Given the description of an element on the screen output the (x, y) to click on. 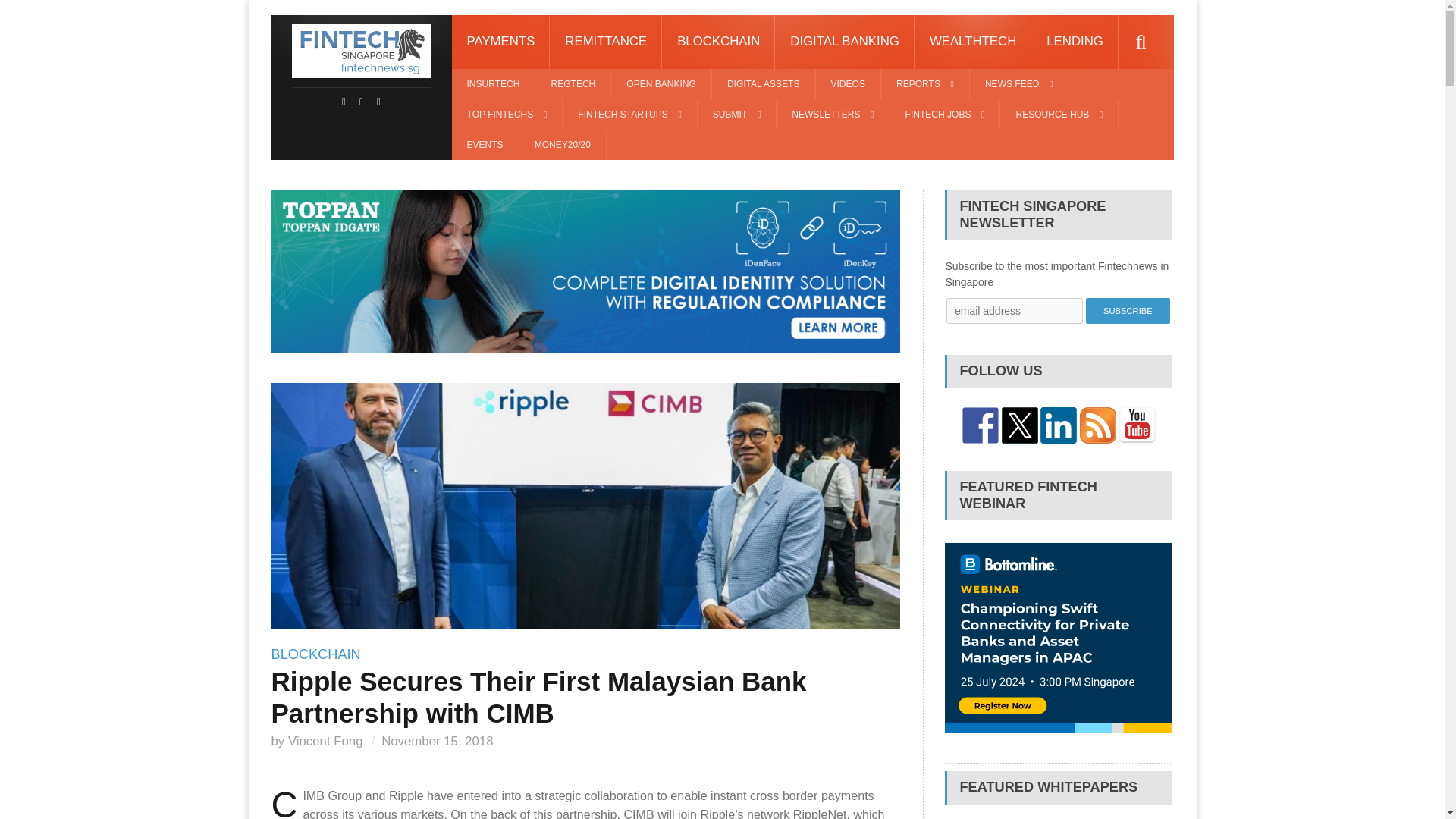
Follow us on Facebook (980, 425)
Subscribe (1128, 310)
DIGITAL BANKING (844, 41)
Posts by Vincent Fong (325, 740)
DIGITAL ASSETS (763, 83)
LENDING (1074, 41)
Subscribe to our RSS Feed (1098, 425)
Follow us on Twitter (1018, 425)
REPORTS (924, 83)
PAYMENTS (500, 41)
BLOCKCHAIN (718, 41)
OPEN BANKING (661, 83)
Find us on YouTube (1137, 425)
INSURTECH (493, 83)
REGTECH (572, 83)
